Given the description of an element on the screen output the (x, y) to click on. 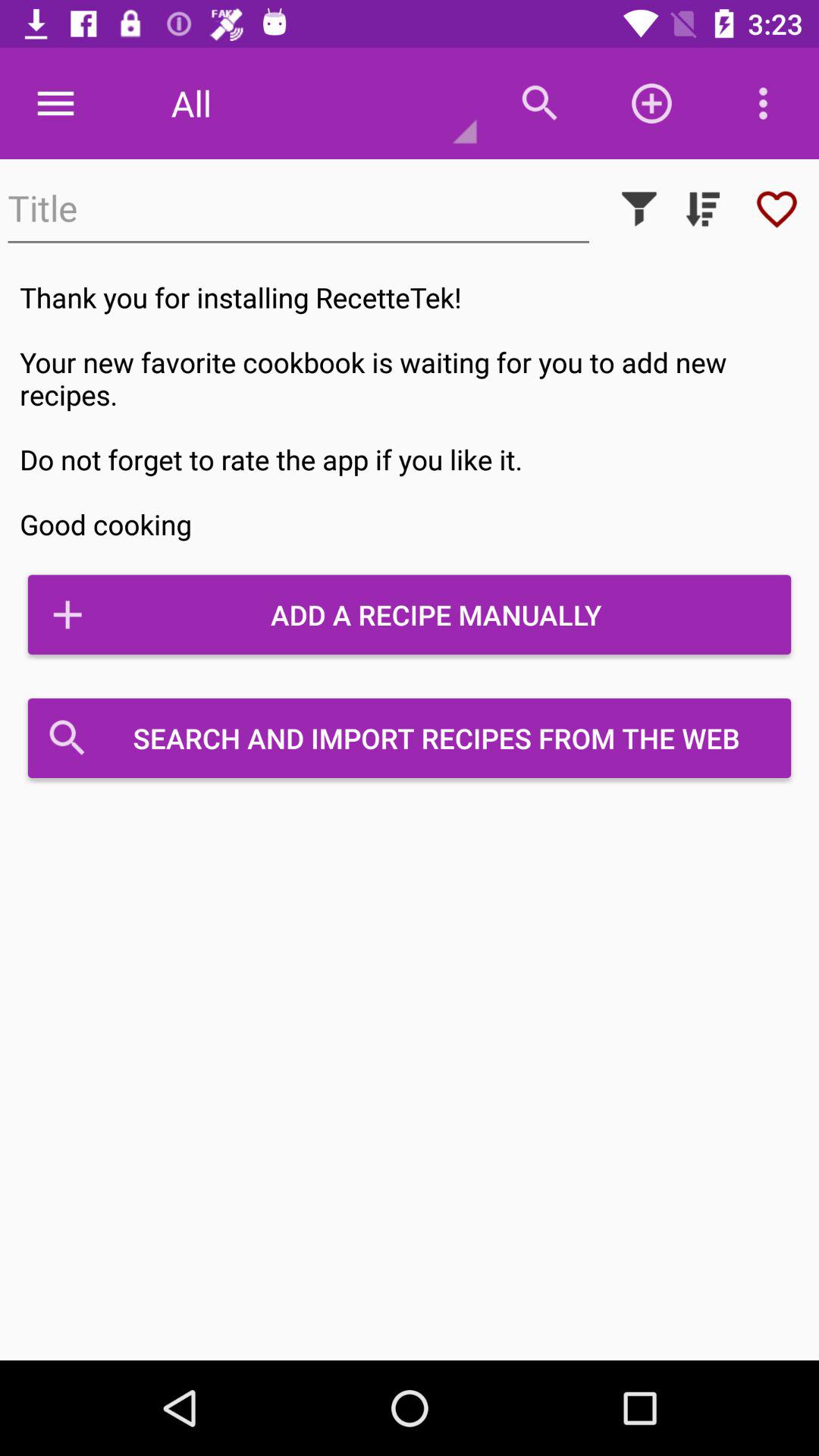
launch item at the top left corner (55, 103)
